Given the description of an element on the screen output the (x, y) to click on. 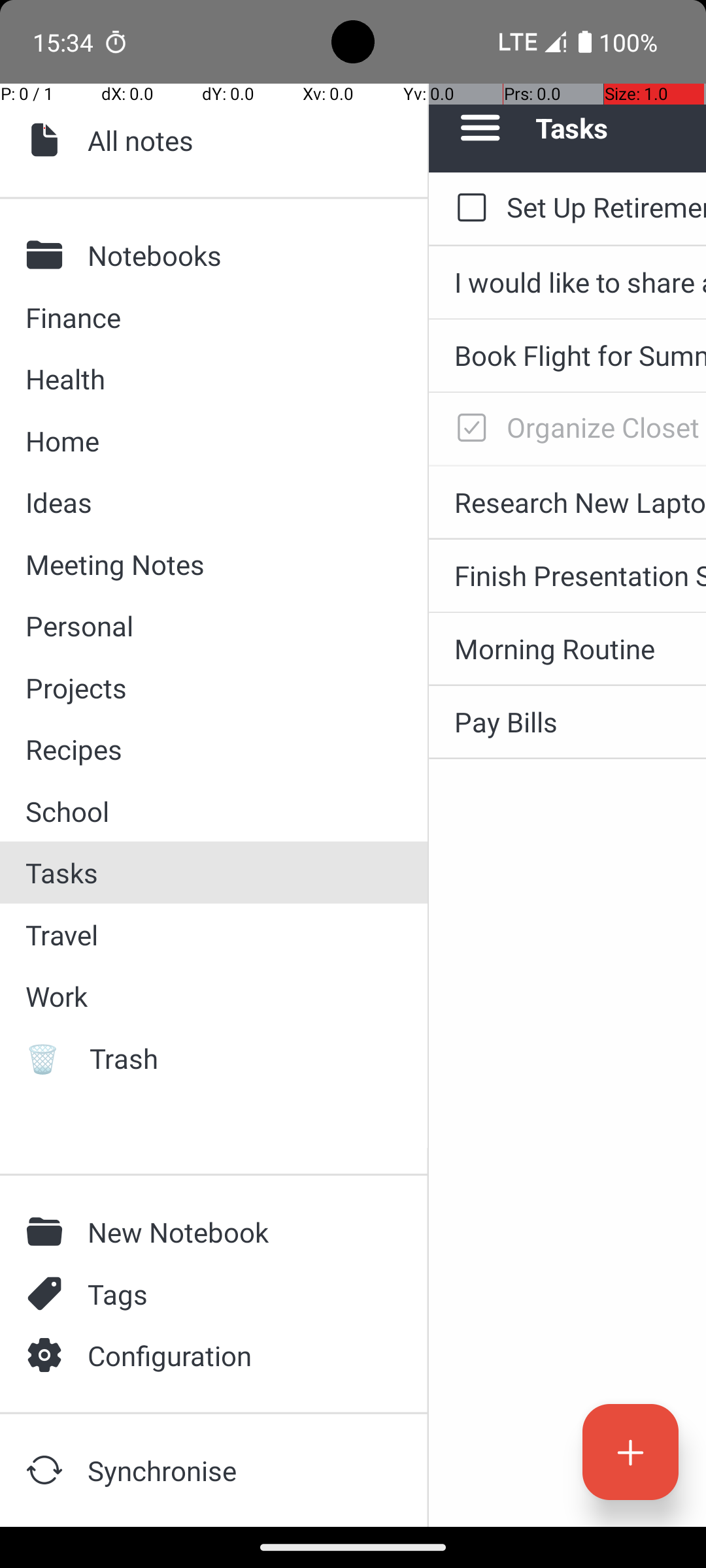
 Element type: android.widget.TextView (47, 254)
Notebooks Element type: android.widget.TextView (235, 254)
 Element type: android.widget.TextView (47, 1231)
New Notebook Element type: android.widget.TextView (235, 1231)
 Element type: android.widget.TextView (47, 1293)
 Element type: android.widget.TextView (47, 1354)
Configuration Element type: android.widget.TextView (235, 1354)
 Element type: android.widget.TextView (47, 1469)
Synchronise Element type: android.widget.TextView (235, 1469)
to-do: Set Up Retirement Account Element type: android.widget.CheckBox (467, 208)
Set Up Retirement Account Element type: android.widget.TextView (606, 206)
I would like to share a track with you Element type: android.widget.TextView (580, 281)
Book Flight for Summer Vacation Element type: android.widget.TextView (580, 354)
to-do: Organize Closet Element type: android.widget.CheckBox (467, 428)
Research New Laptop Element type: android.widget.TextView (580, 501)
Finish Presentation Slides for Team Meeting Element type: android.widget.TextView (580, 574)
Morning Routine Element type: android.widget.TextView (580, 648)
Pay Bills Element type: android.widget.TextView (580, 721)
 Element type: android.widget.TextView (47, 139)
🗑️ Element type: android.widget.TextView (48, 1057)
